Given the description of an element on the screen output the (x, y) to click on. 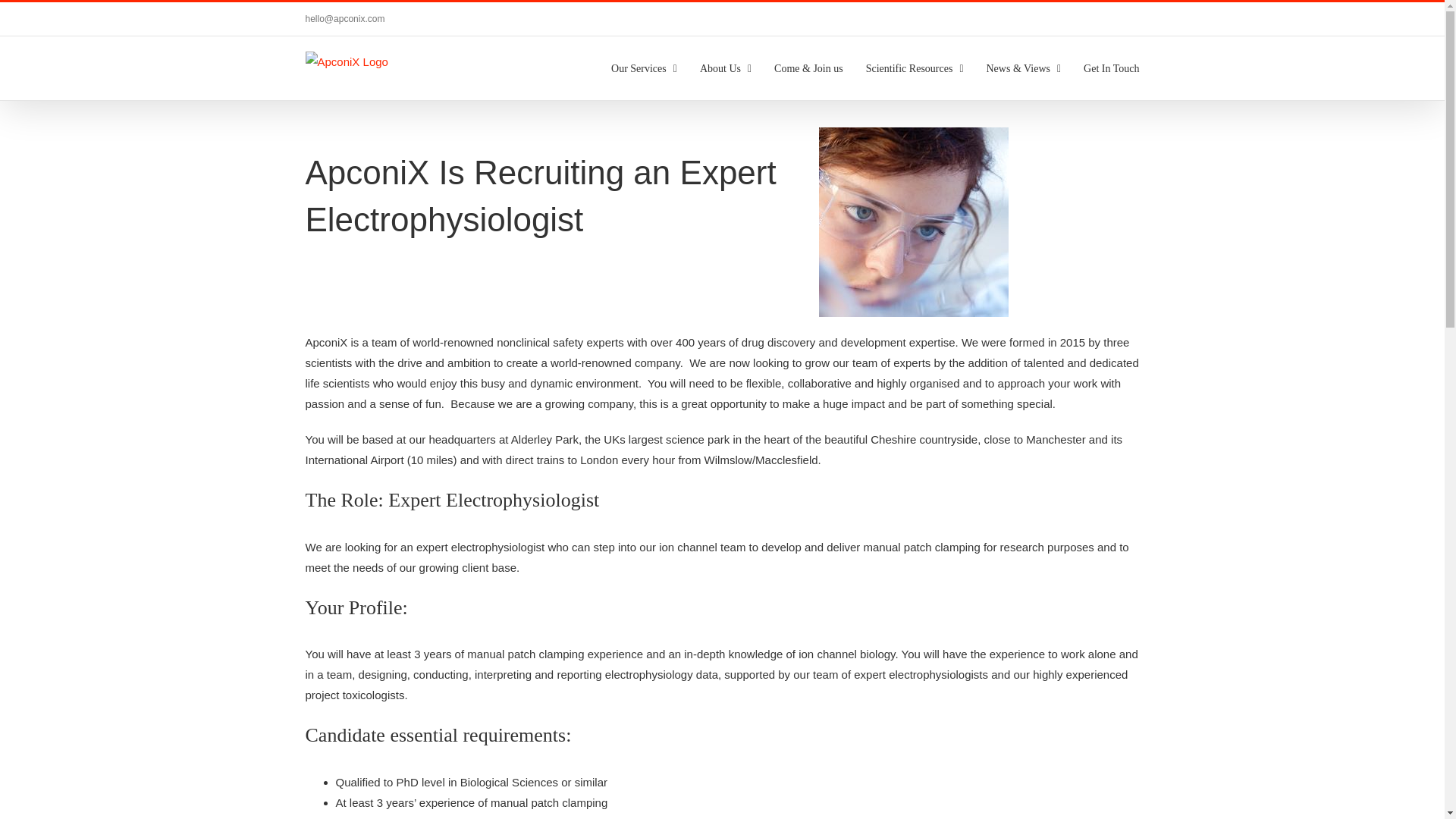
Recruiting an Expert Electrophysiologist (913, 221)
Scientific Resources (914, 67)
Our Services (644, 67)
